Given the description of an element on the screen output the (x, y) to click on. 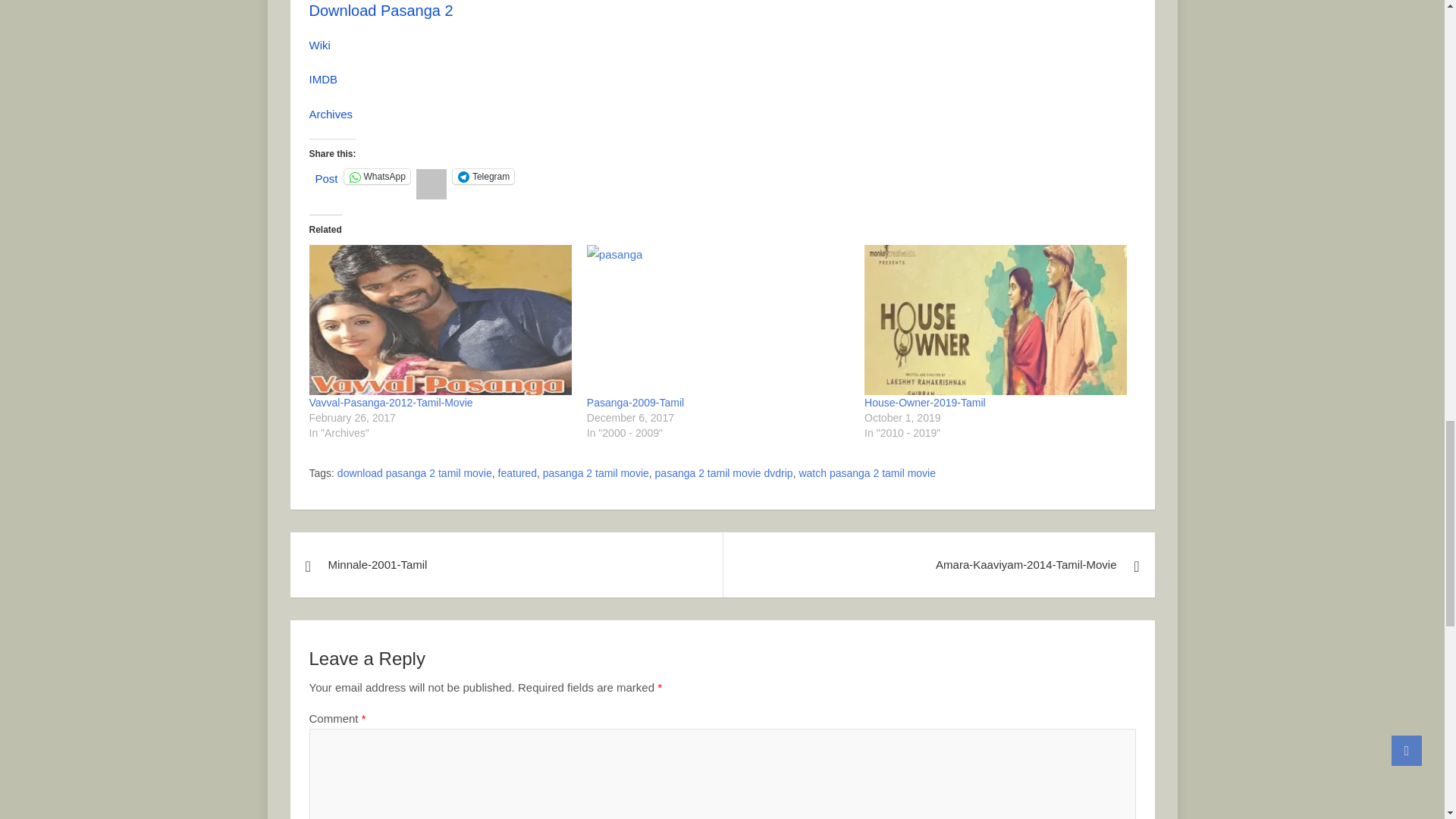
Download from OxFiles.com (380, 10)
Telegram (482, 176)
Post (326, 175)
Pasanga-2009-Tamil (635, 402)
Wiki (319, 44)
IMDB (322, 78)
Pasanga-2009-Tamil (717, 319)
Vavval-Pasanga-2012-Tamil-Movie (390, 402)
Click to share on WhatsApp (376, 176)
House-Owner-2019-Tamil (924, 402)
